Given the description of an element on the screen output the (x, y) to click on. 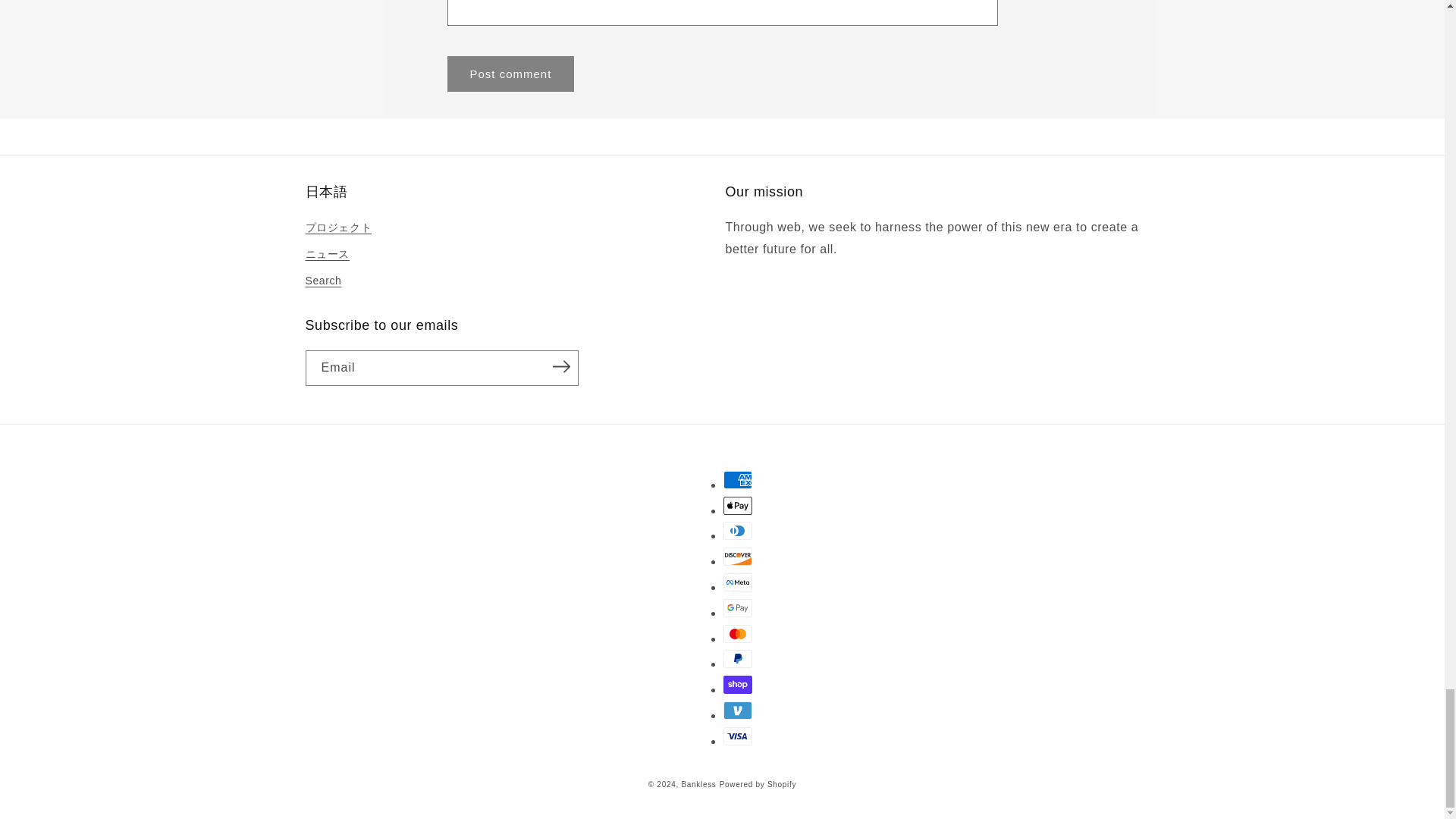
Mastercard (737, 633)
Bankless (698, 784)
Apple Pay (737, 505)
Shop Pay (737, 684)
PayPal (737, 659)
Google Pay (737, 607)
Visa (737, 736)
Diners Club (737, 530)
Meta Pay (737, 582)
Post comment (510, 73)
Powered by Shopify (757, 784)
Post comment (510, 73)
American Express (737, 479)
Discover (737, 556)
Search (322, 280)
